Given the description of an element on the screen output the (x, y) to click on. 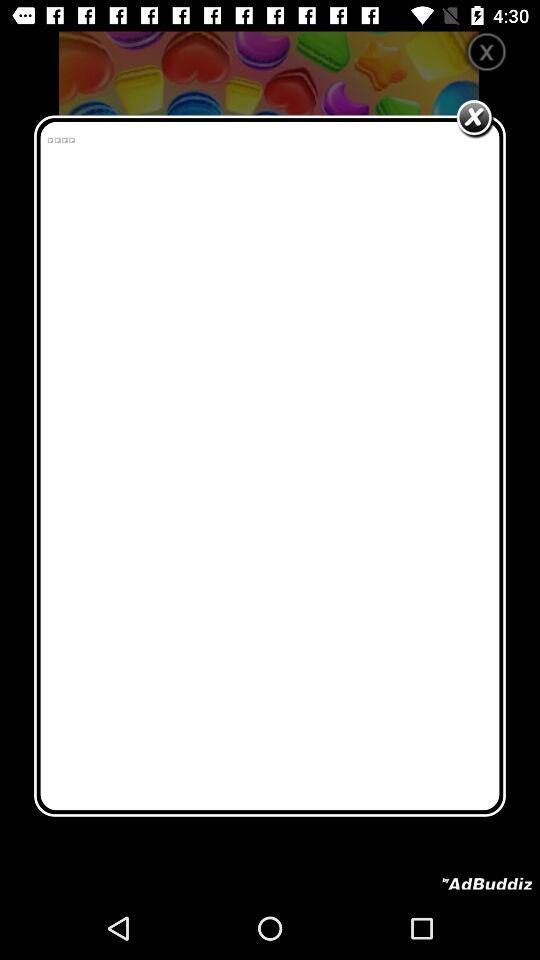
open advertisement (487, 883)
